Given the description of an element on the screen output the (x, y) to click on. 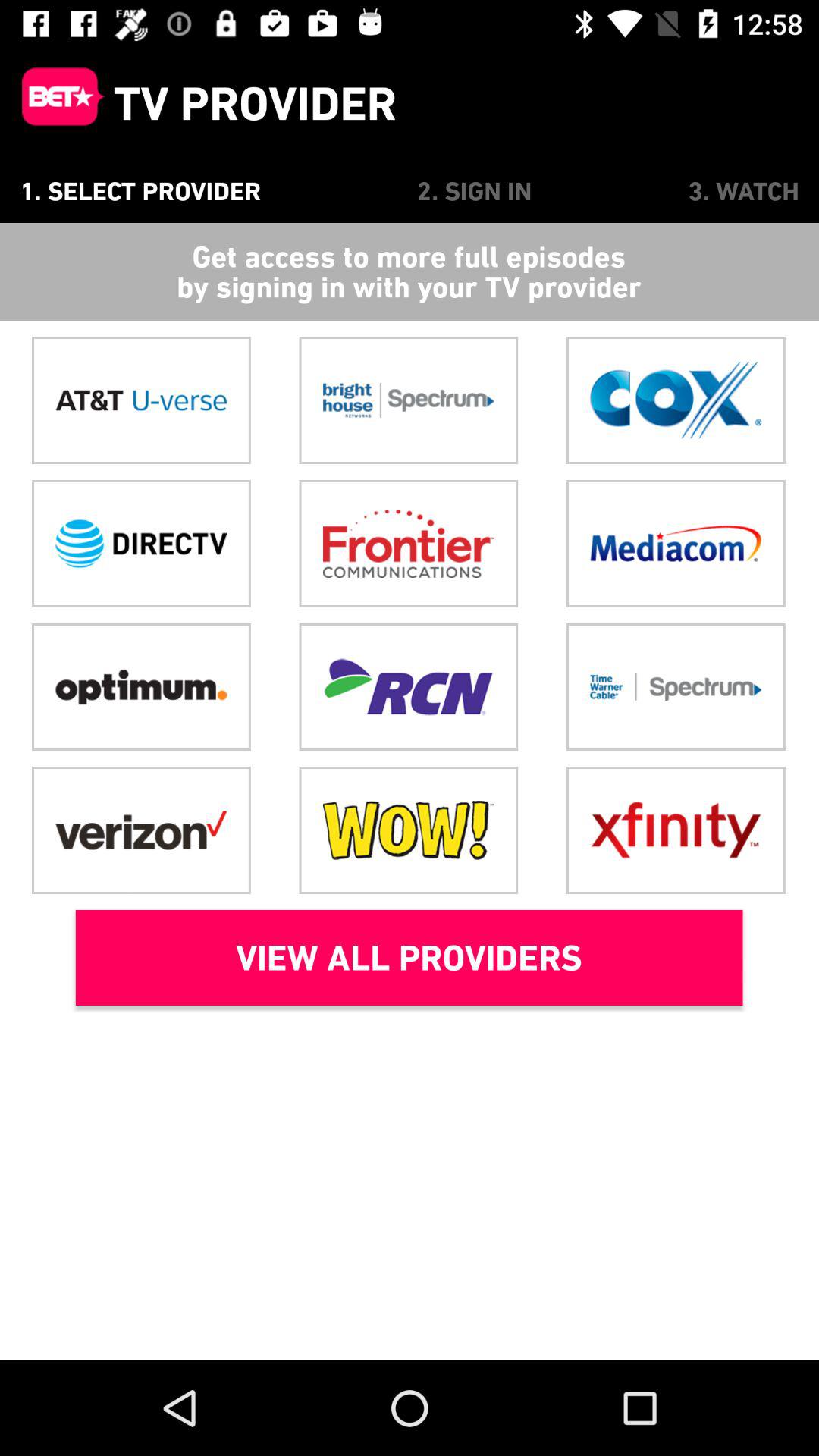
tap icon above the 1. select provider item (56, 103)
